Given the description of an element on the screen output the (x, y) to click on. 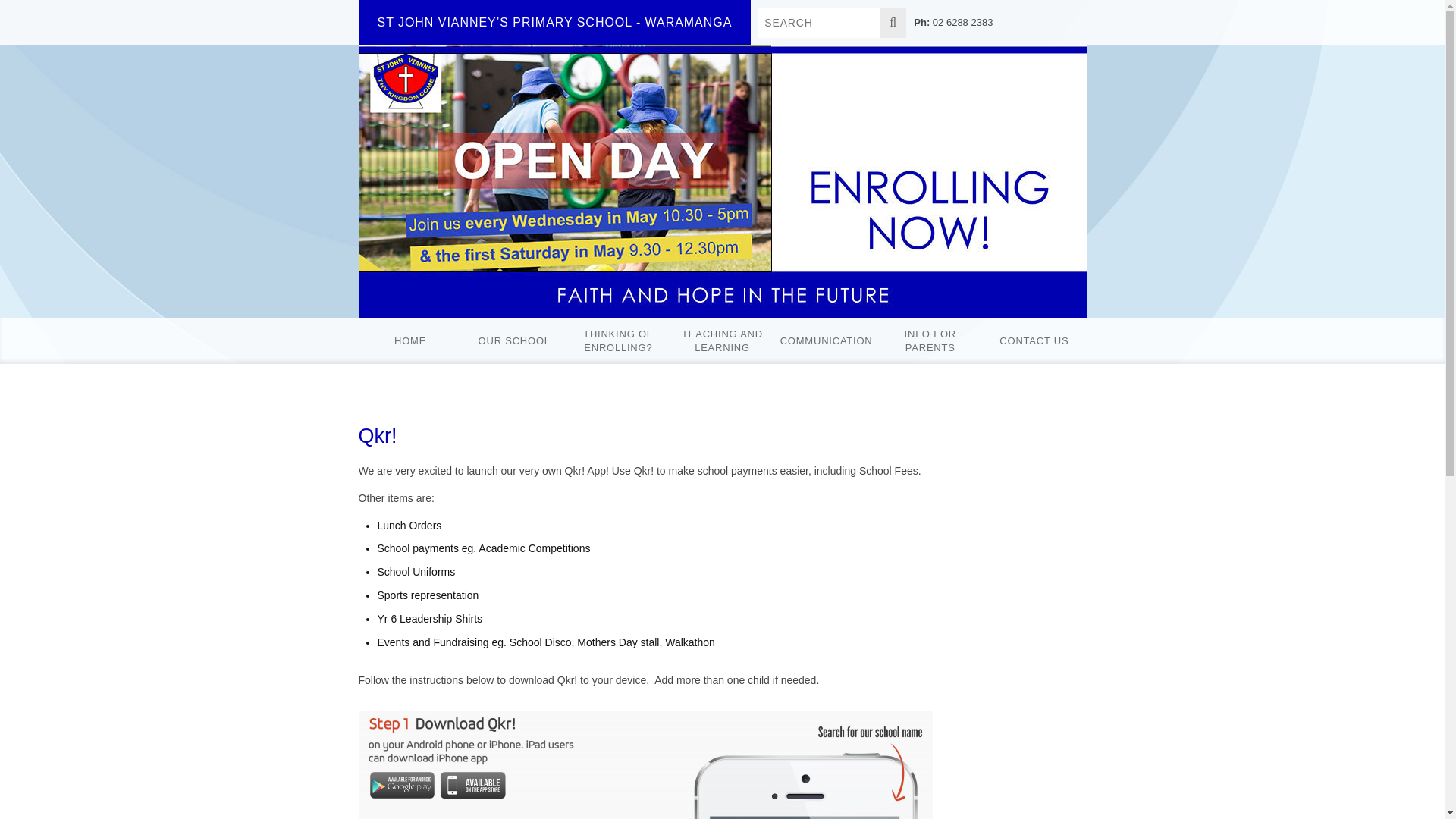
Thinking of Enrolling? (617, 340)
Teaching and Learning (721, 340)
TEACHING AND LEARNING (721, 340)
HOME (409, 340)
THINKING OF ENROLLING? (617, 340)
Search (818, 22)
Home (409, 340)
OUR SCHOOL (514, 340)
Our School (514, 340)
